Given the description of an element on the screen output the (x, y) to click on. 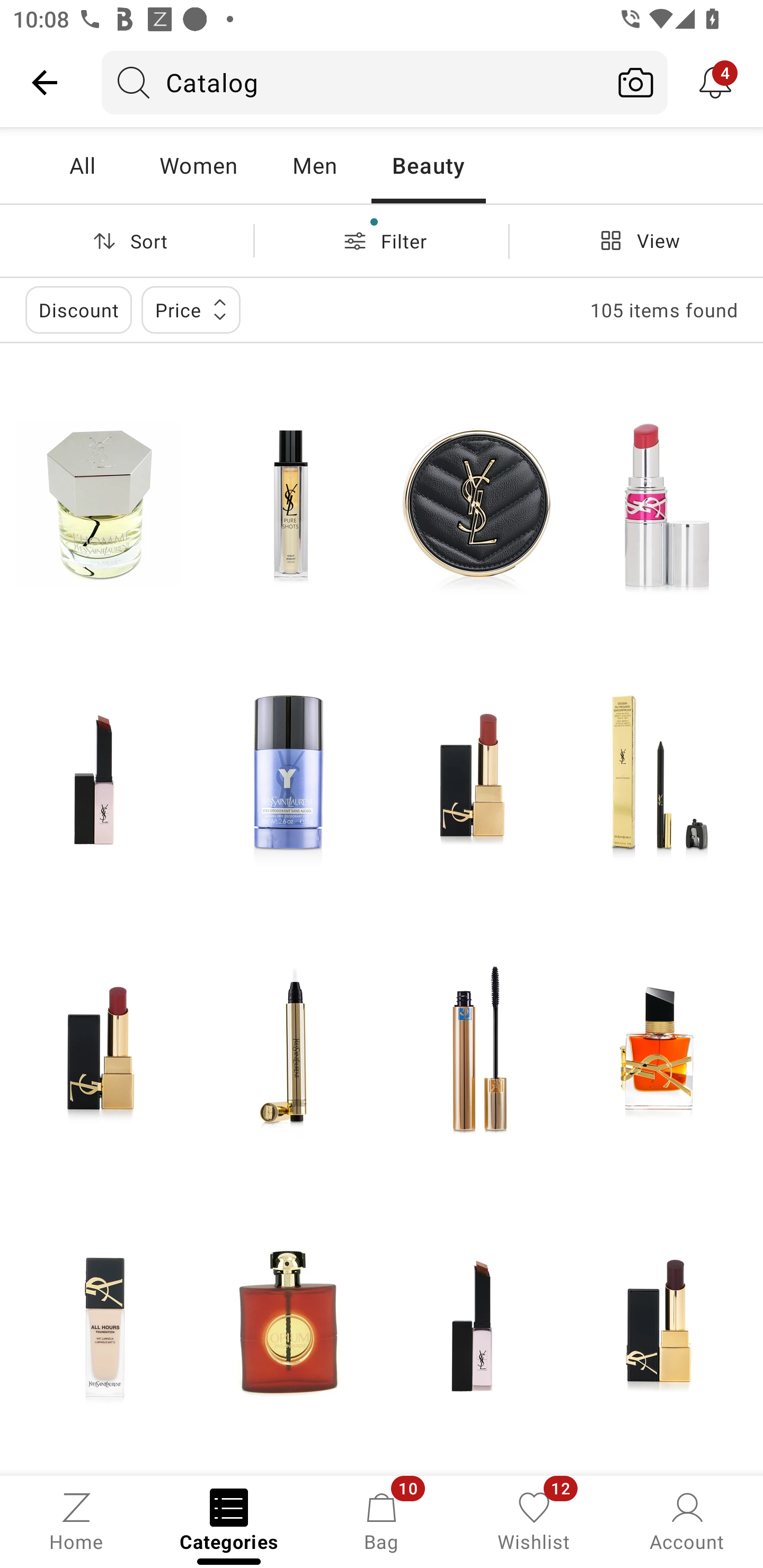
Navigate up (44, 82)
Catalog (352, 82)
All (82, 165)
Women (198, 165)
Men (314, 165)
Sort (126, 240)
Filter (381, 240)
View (636, 240)
Discount (78, 309)
Price (190, 309)
Home (76, 1519)
Bag, 10 new notifications Bag (381, 1519)
Wishlist, 12 new notifications Wishlist (533, 1519)
Account (686, 1519)
